Given the description of an element on the screen output the (x, y) to click on. 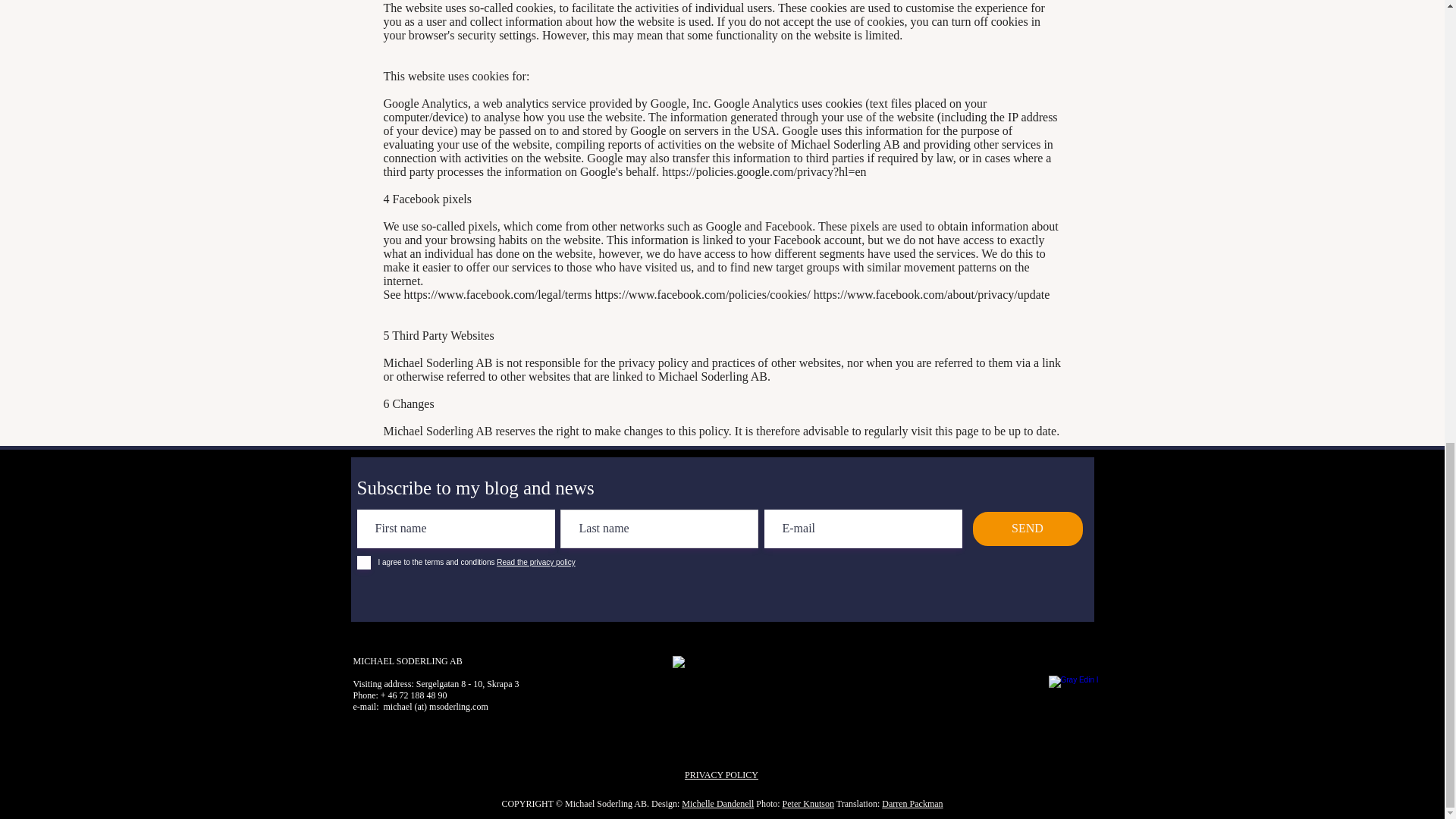
PRIVACY POLICY (721, 774)
Michelle Dandenell (717, 803)
Peter Knutson (808, 803)
Read the privacy policy (535, 561)
SEND (1026, 528)
Darren Packman (912, 803)
